Given the description of an element on the screen output the (x, y) to click on. 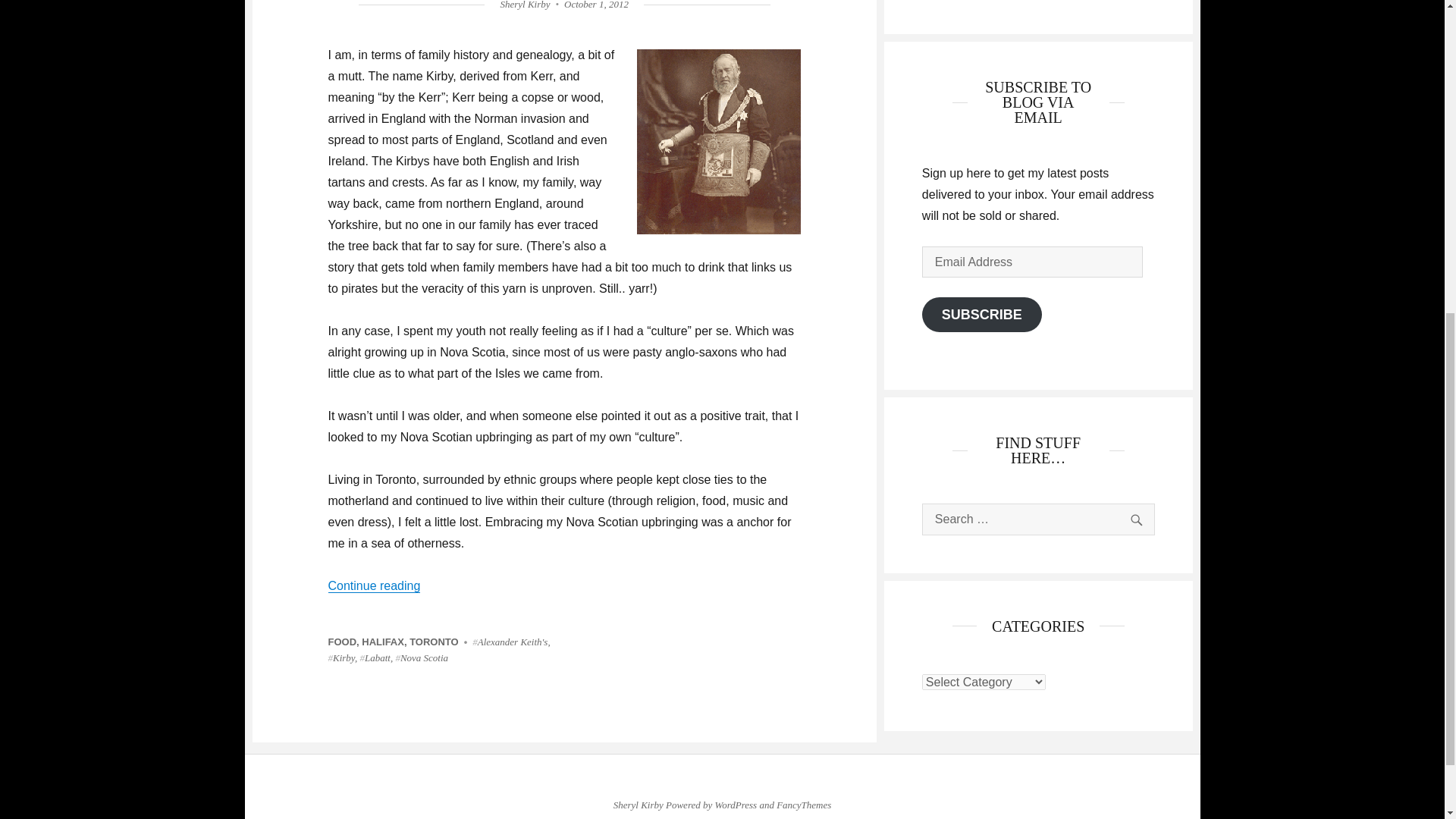
Alexander Keith's (509, 641)
FOOD (341, 641)
Sheryl Kirby (524, 4)
Sheryl Kirby (637, 804)
Nova Scotia (421, 657)
TORONTO (433, 641)
Labatt (374, 657)
October 1, 2012 (596, 4)
FancyThemes (803, 804)
SUBSCRIBE (981, 314)
Kirby (340, 657)
WordPress (735, 804)
SEARCH (1135, 519)
HALIFAX (382, 641)
